Given the description of an element on the screen output the (x, y) to click on. 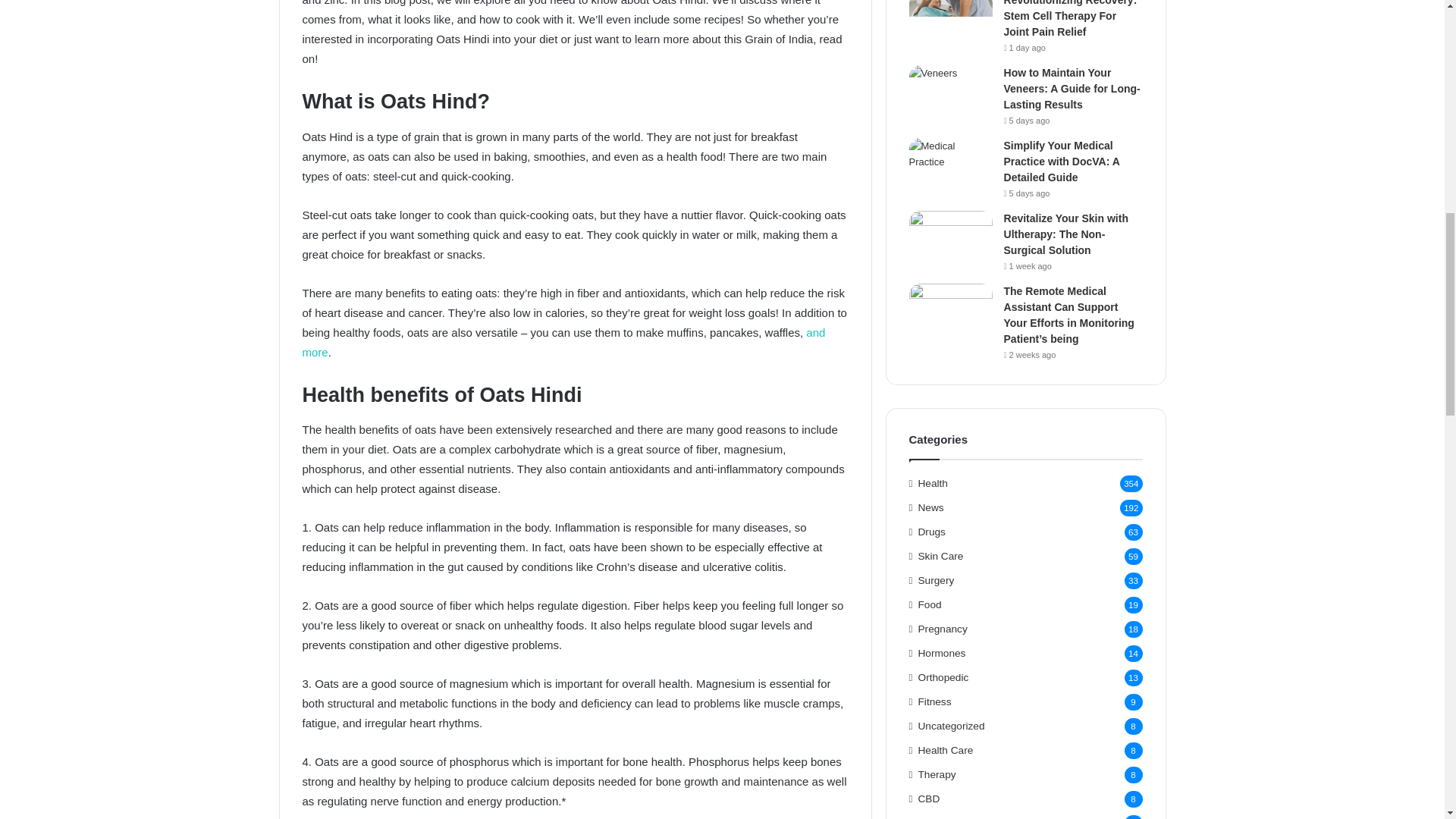
and more (563, 341)
